Given the description of an element on the screen output the (x, y) to click on. 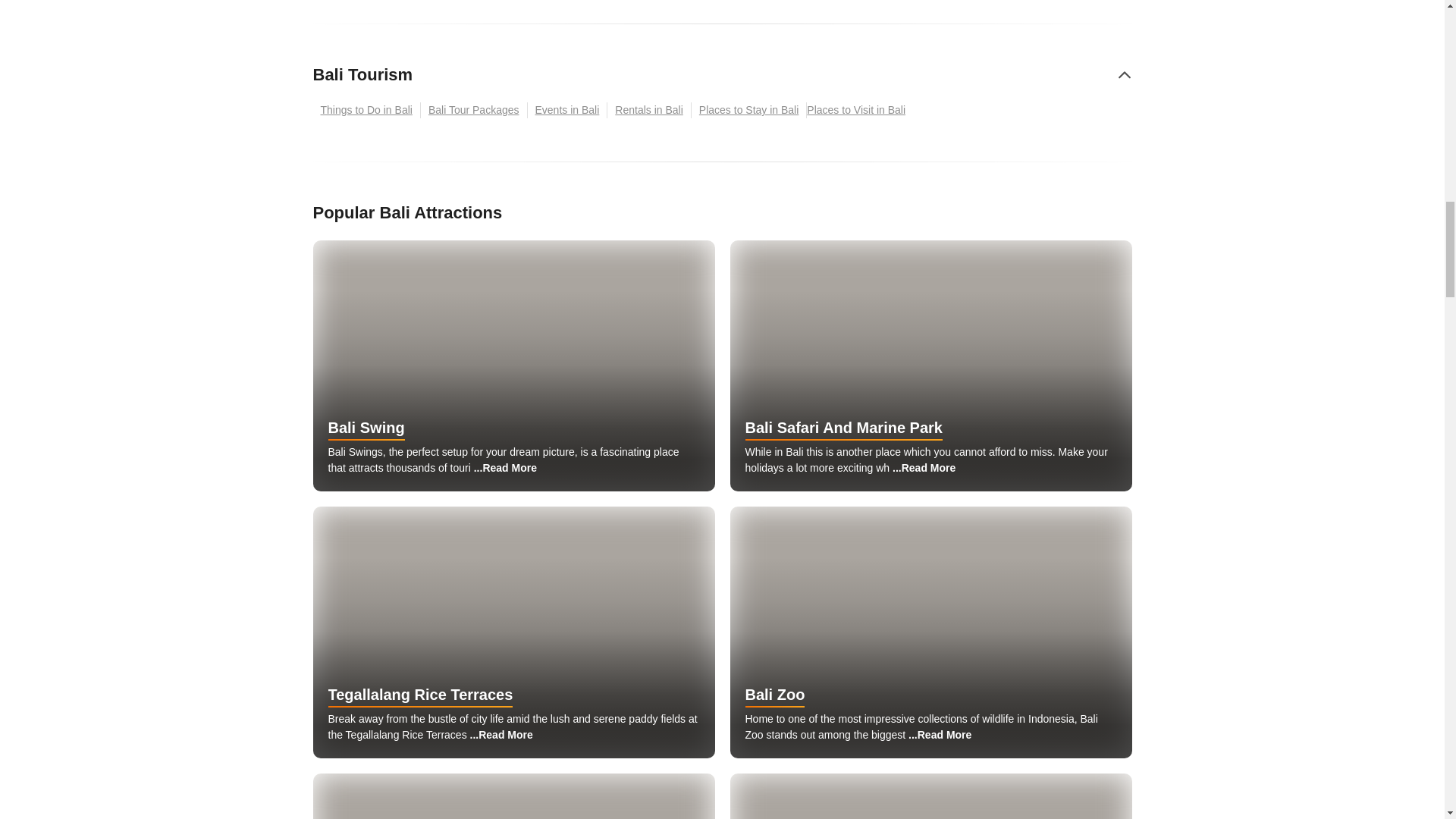
Places to Stay in Bali (749, 109)
Bali Tourism (362, 74)
Things to Do in Bali (366, 109)
Rentals in Bali (649, 109)
Places to Visit in Bali (859, 109)
Events in Bali (567, 109)
Bali Tour Packages (473, 109)
